Given the description of an element on the screen output the (x, y) to click on. 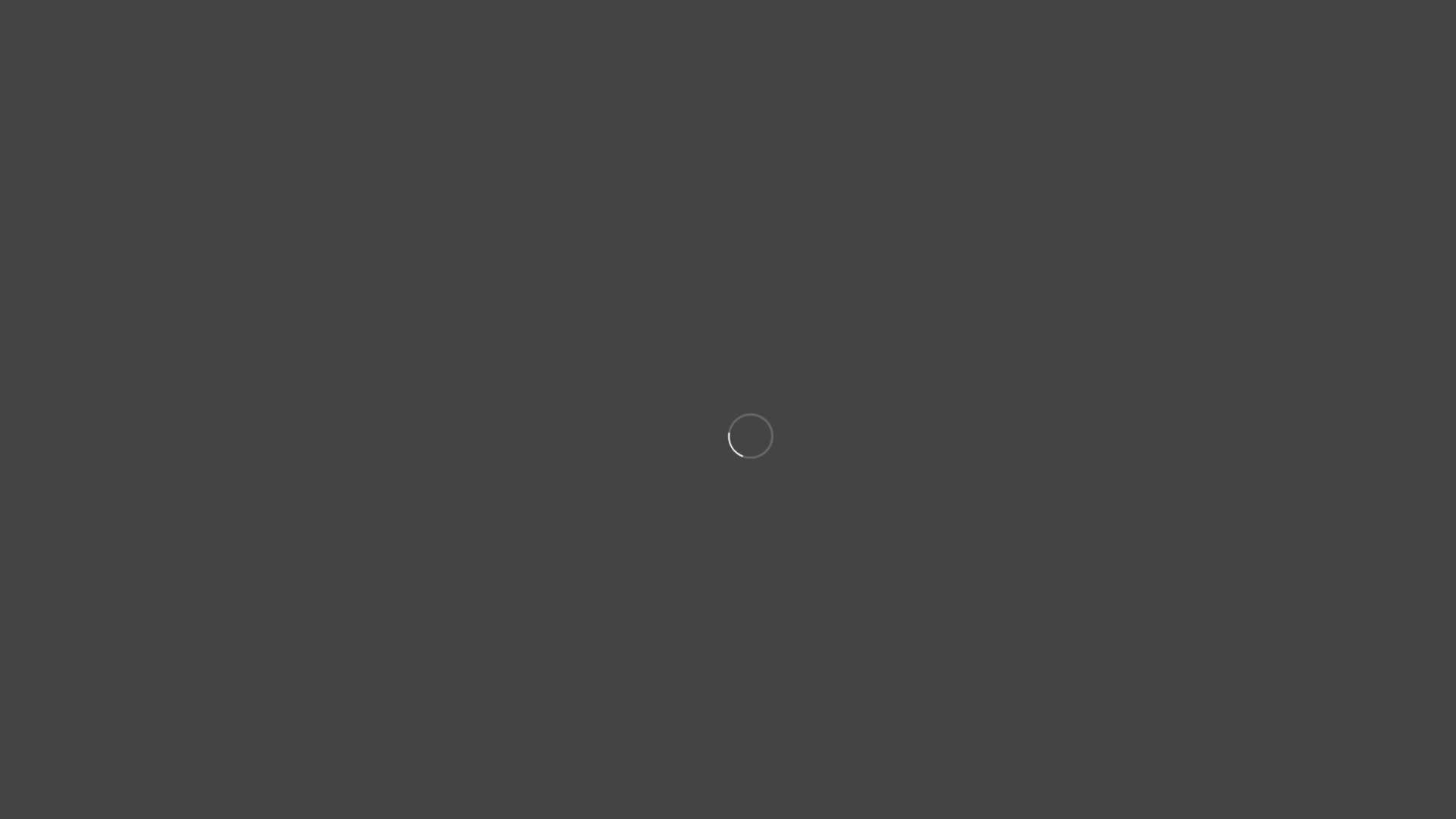
BETON / ESTRICH / NATURWERKSTEIN Element type: text (982, 63)
All Projects Element type: text (728, 333)
HOME Element type: text (653, 63)
TERRAZZO Element type: text (810, 63)
KONTAKT Element type: text (1137, 63)
